Given the description of an element on the screen output the (x, y) to click on. 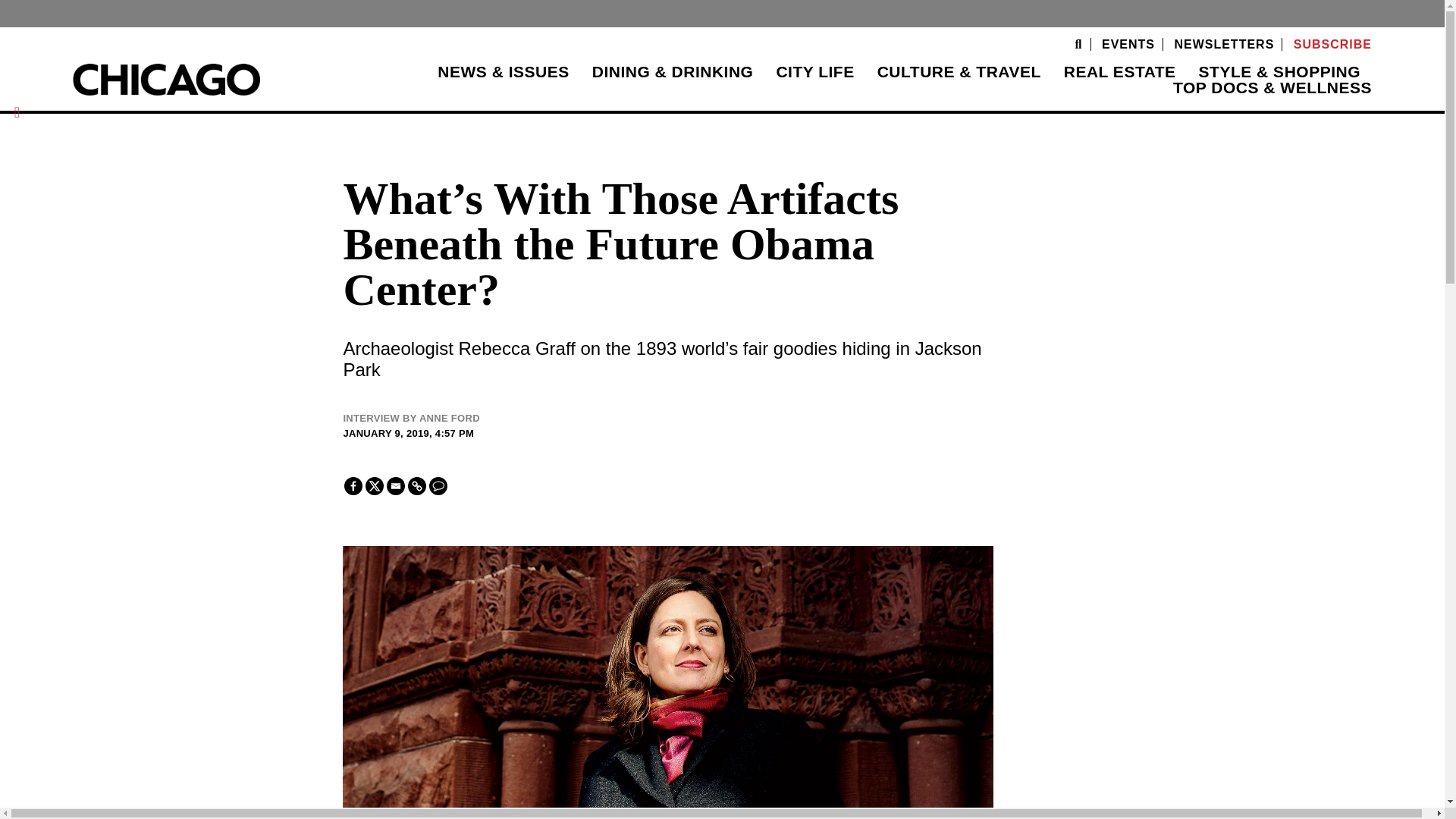
comment (437, 485)
NEWSLETTERS (1224, 43)
Facebook (352, 485)
EVENTS (1128, 43)
Email (395, 485)
Copy Link (416, 485)
X (374, 485)
